Given the description of an element on the screen output the (x, y) to click on. 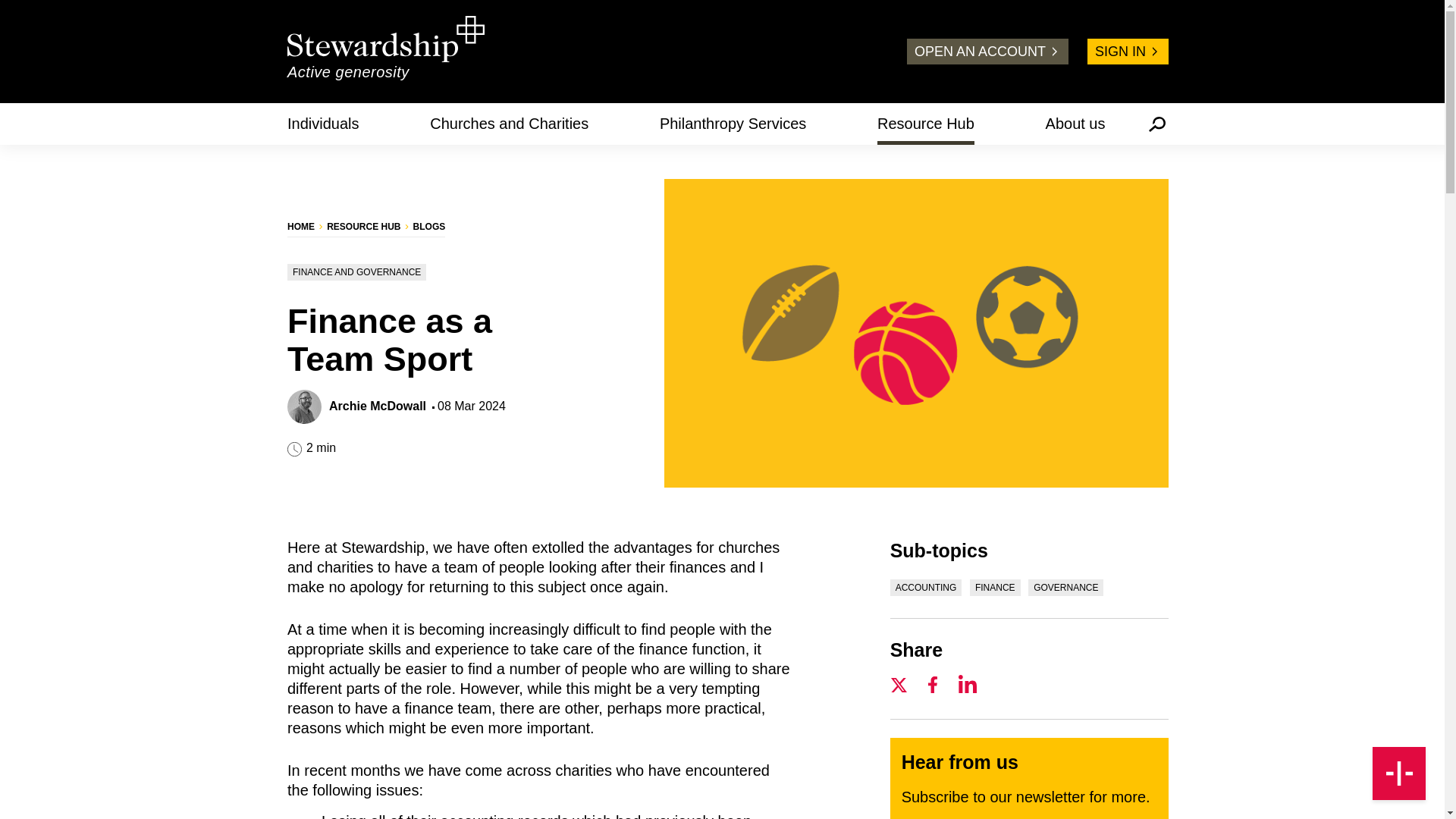
Churches and Charities (508, 123)
Philanthropy Services (732, 123)
Active generosity (385, 50)
Individuals (322, 123)
SIGN IN (1128, 51)
OPEN AN ACCOUNT (987, 51)
